Given the description of an element on the screen output the (x, y) to click on. 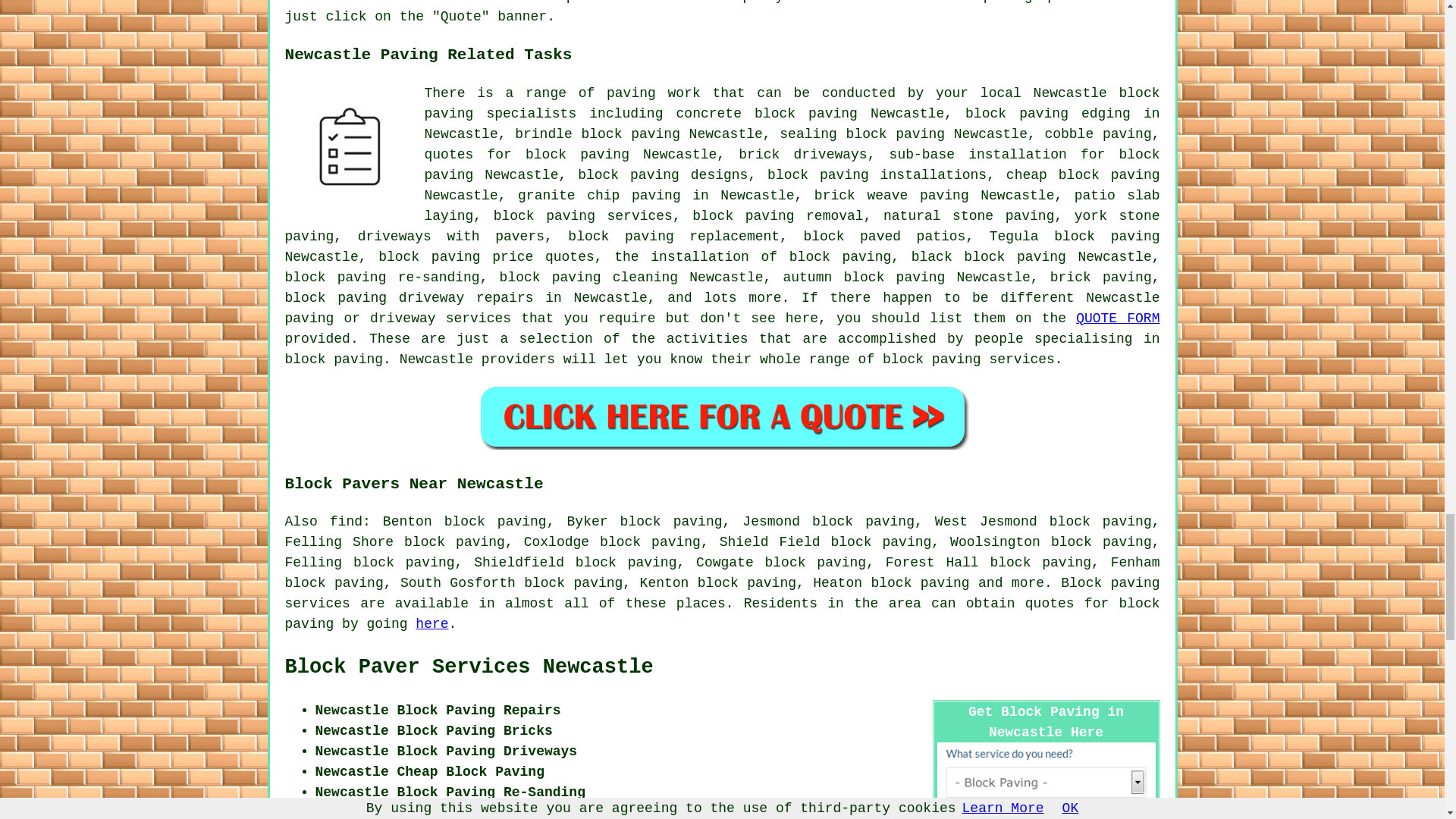
Paving Related Tasks Newcastle (349, 147)
NEWCASTLE BLOCK PAVING QUOTES (722, 416)
the installation of block paving (752, 256)
